Given the description of an element on the screen output the (x, y) to click on. 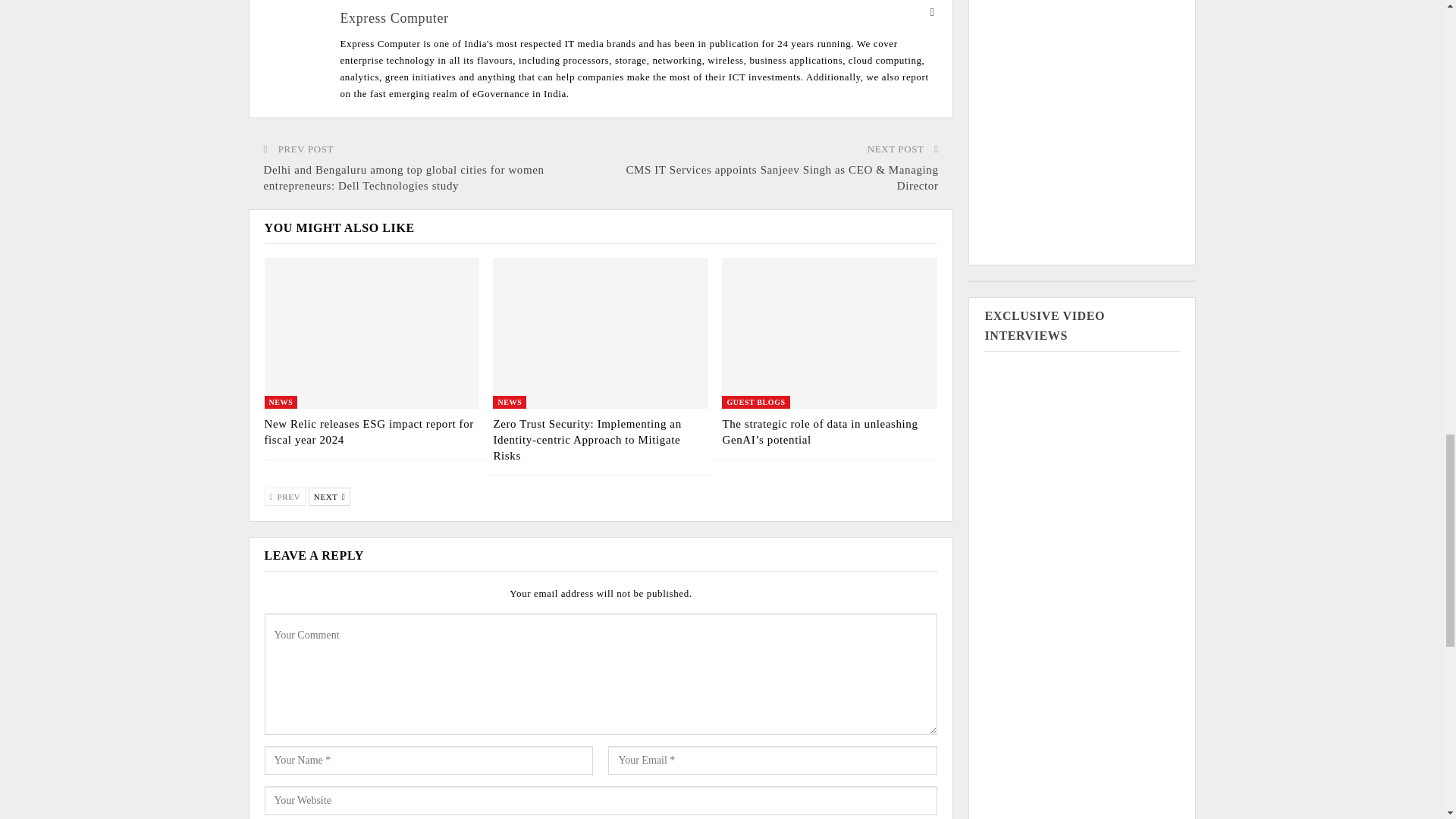
New Relic releases ESG impact report for fiscal year 2024 (368, 431)
Previous (284, 496)
New Relic releases ESG impact report for fiscal year 2024 (371, 332)
